Given the description of an element on the screen output the (x, y) to click on. 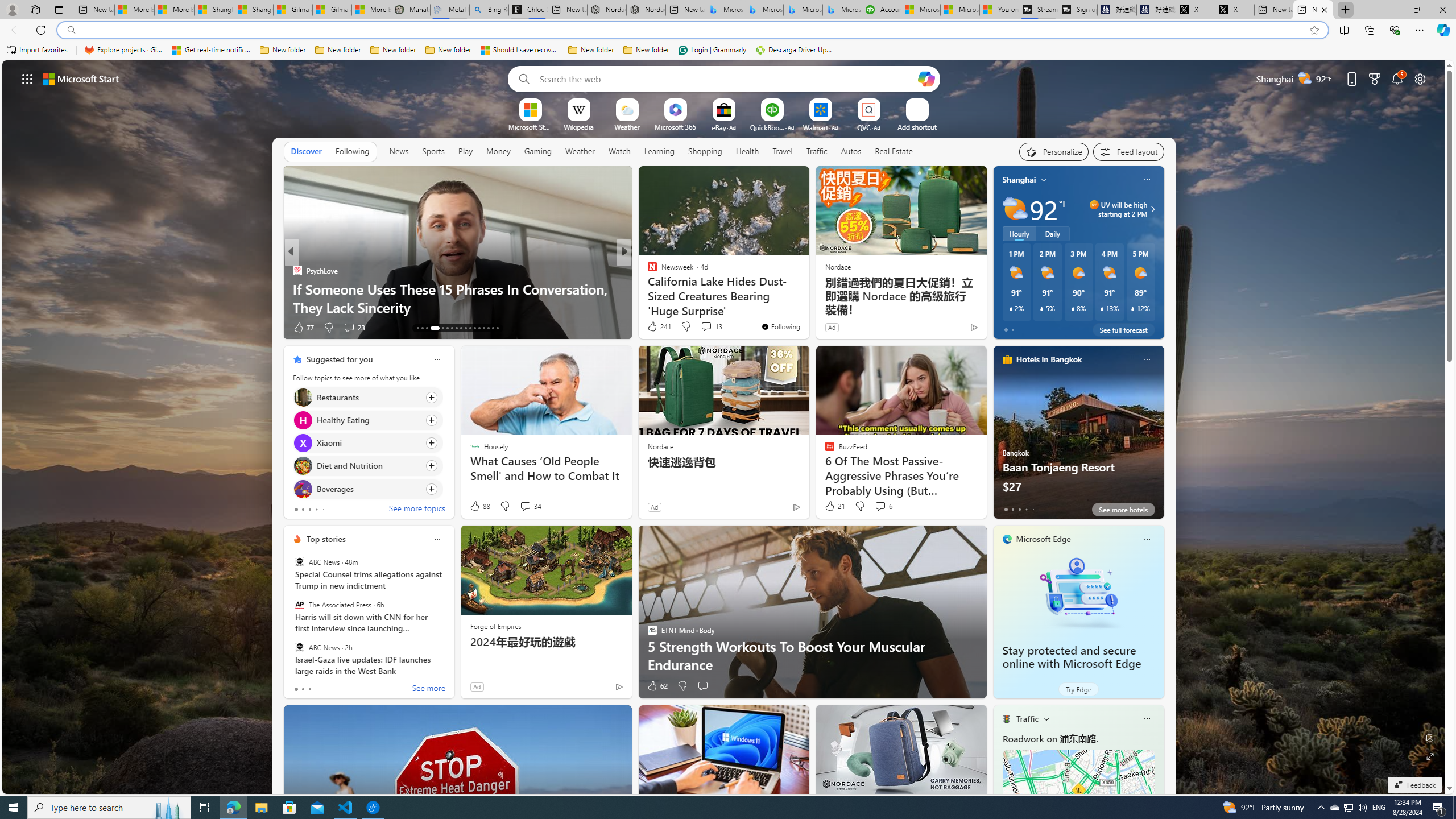
Craft Your Happy Place (647, 288)
View comments 102 Comment (359, 327)
Add a site (916, 126)
AutomationID: tab-23 (470, 328)
Class: control (27, 78)
AutomationID: tab-26 (483, 328)
Feed settings (1128, 151)
